Given the description of an element on the screen output the (x, y) to click on. 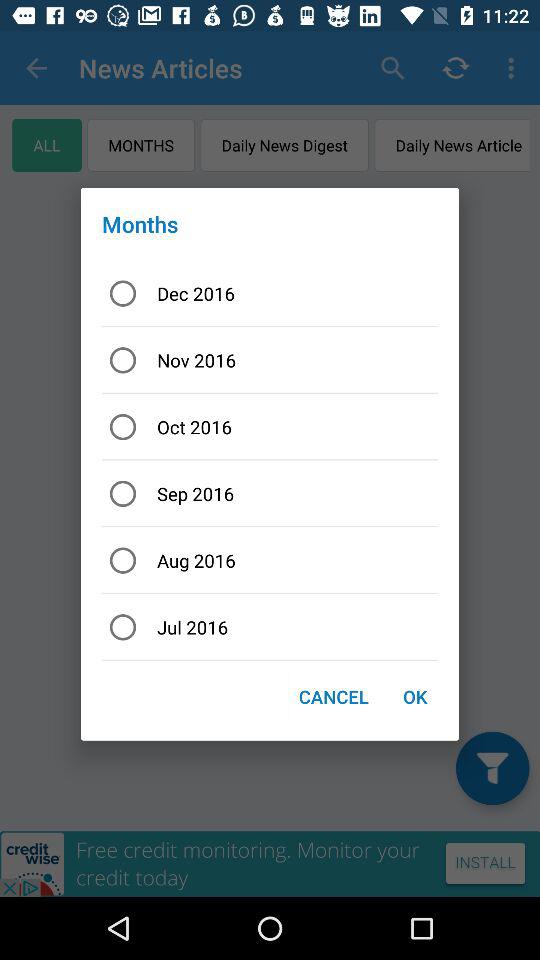
tap item above the oct 2016 icon (269, 359)
